Given the description of an element on the screen output the (x, y) to click on. 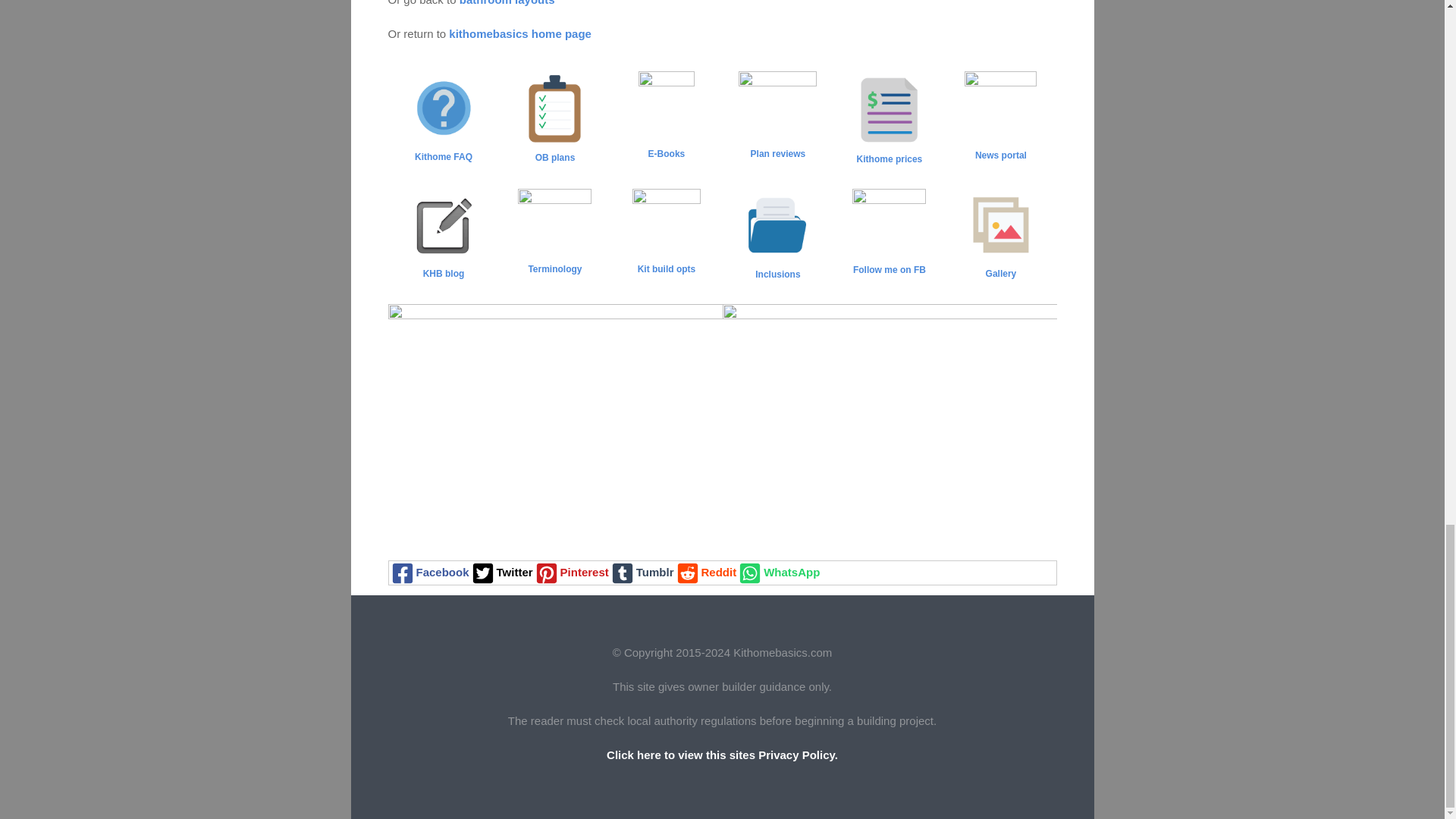
Go to Kithomebasics Gallery (1000, 265)
Go to Top 5 Ways to Build a Kit Home (666, 234)
Go to Groundwork for Home Building Plans (554, 150)
Go to Standard Inclusion lists for kit homes (777, 266)
Go to Kit Home News Portal (1000, 119)
Go to Kit home basics blog (443, 265)
Go to Construction Terminology for kit home builders (554, 234)
Go to PDF Ebooks for Do it Yourself Home Building (666, 118)
Go to House Floor Plans and Designs (777, 118)
Go to Kit Home Prices (888, 152)
